Given the description of an element on the screen output the (x, y) to click on. 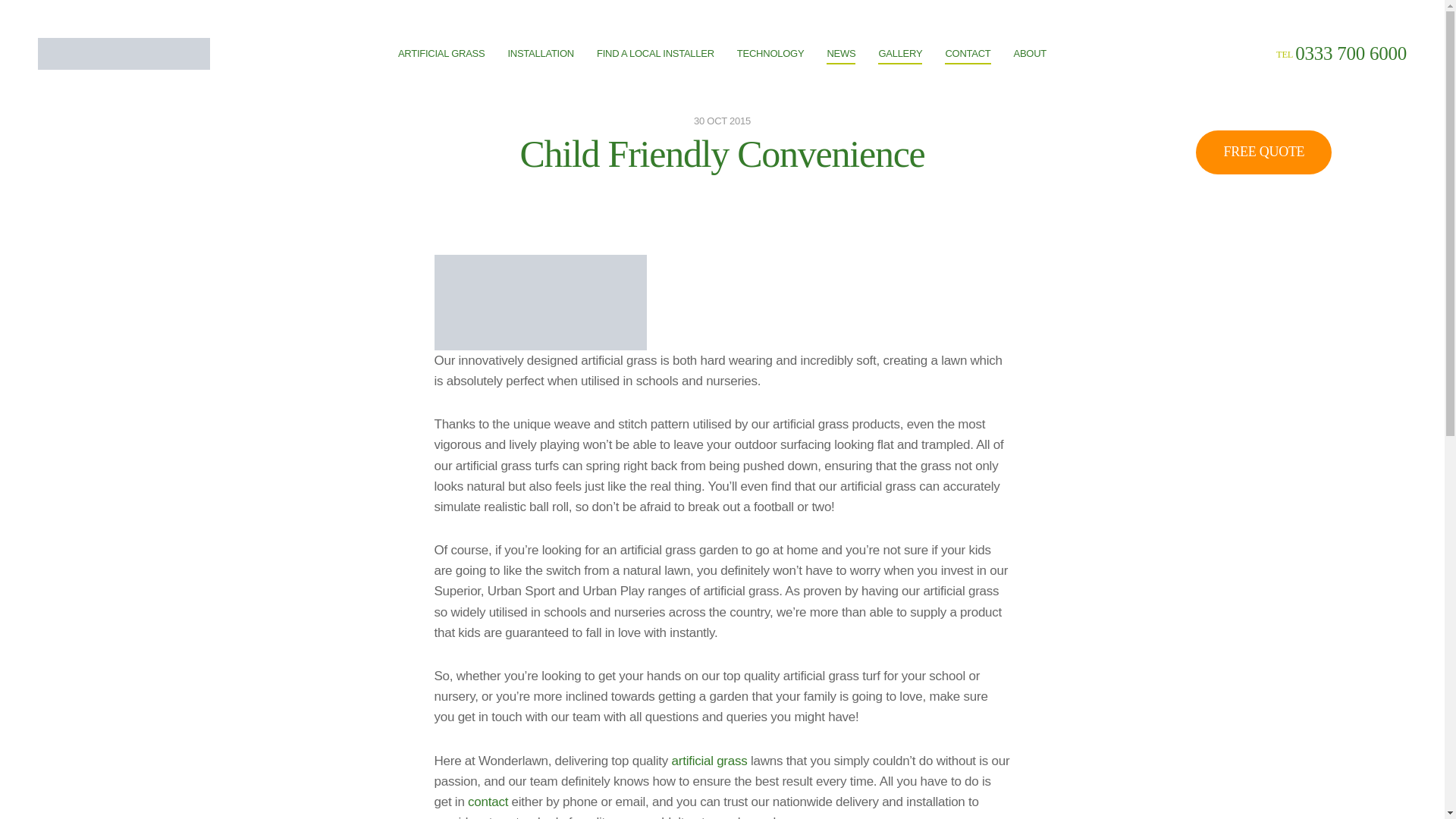
TECHNOLOGY (770, 53)
FIND A LOCAL INSTALLER (655, 53)
CONTACT (967, 54)
ARTIFICIAL GRASS (440, 53)
FREE QUOTE (1263, 152)
artificial grass (709, 760)
GALLERY (899, 54)
INSTALLATION (539, 53)
ABOUT (1029, 53)
NEWS (841, 54)
contact (487, 801)
